Given the description of an element on the screen output the (x, y) to click on. 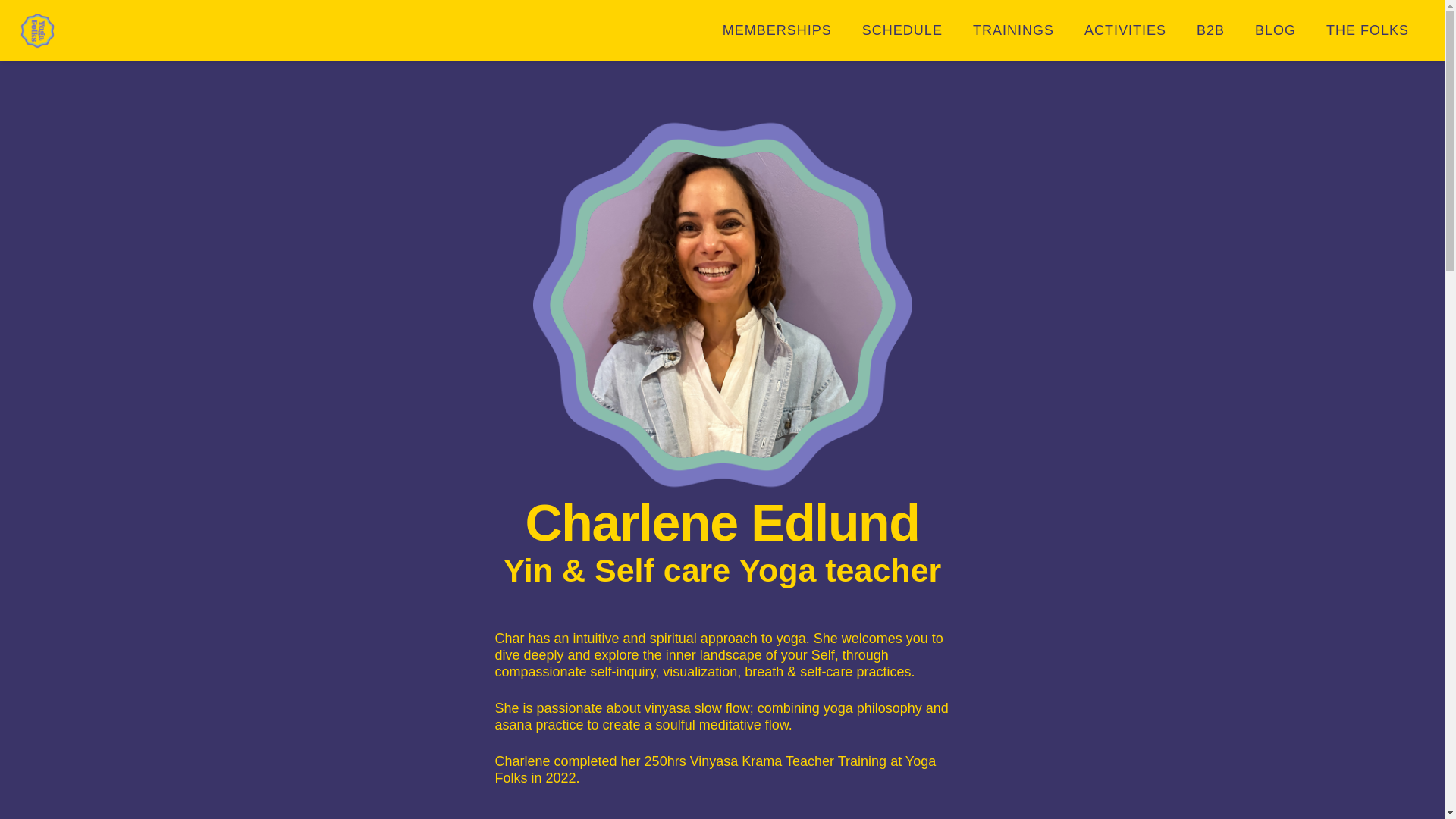
SCHEDULE (902, 30)
B2B (1210, 30)
MEMBERSHIPS (777, 30)
THE FOLKS (1367, 30)
TRAININGS (1013, 30)
BLOG (1275, 30)
ACTIVITIES (1124, 30)
